Given the description of an element on the screen output the (x, y) to click on. 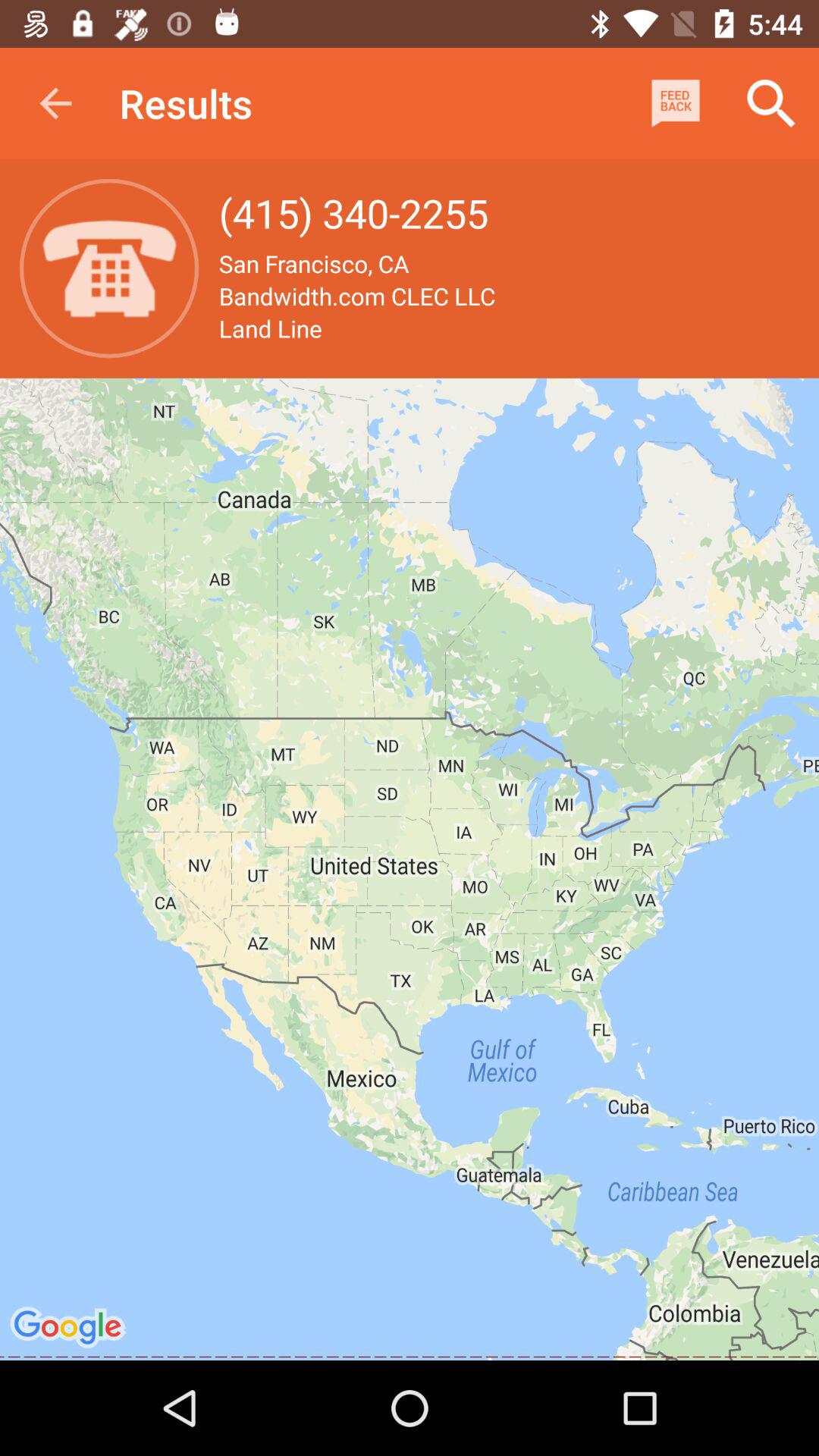
click the icon at the center (409, 869)
